Given the description of an element on the screen output the (x, y) to click on. 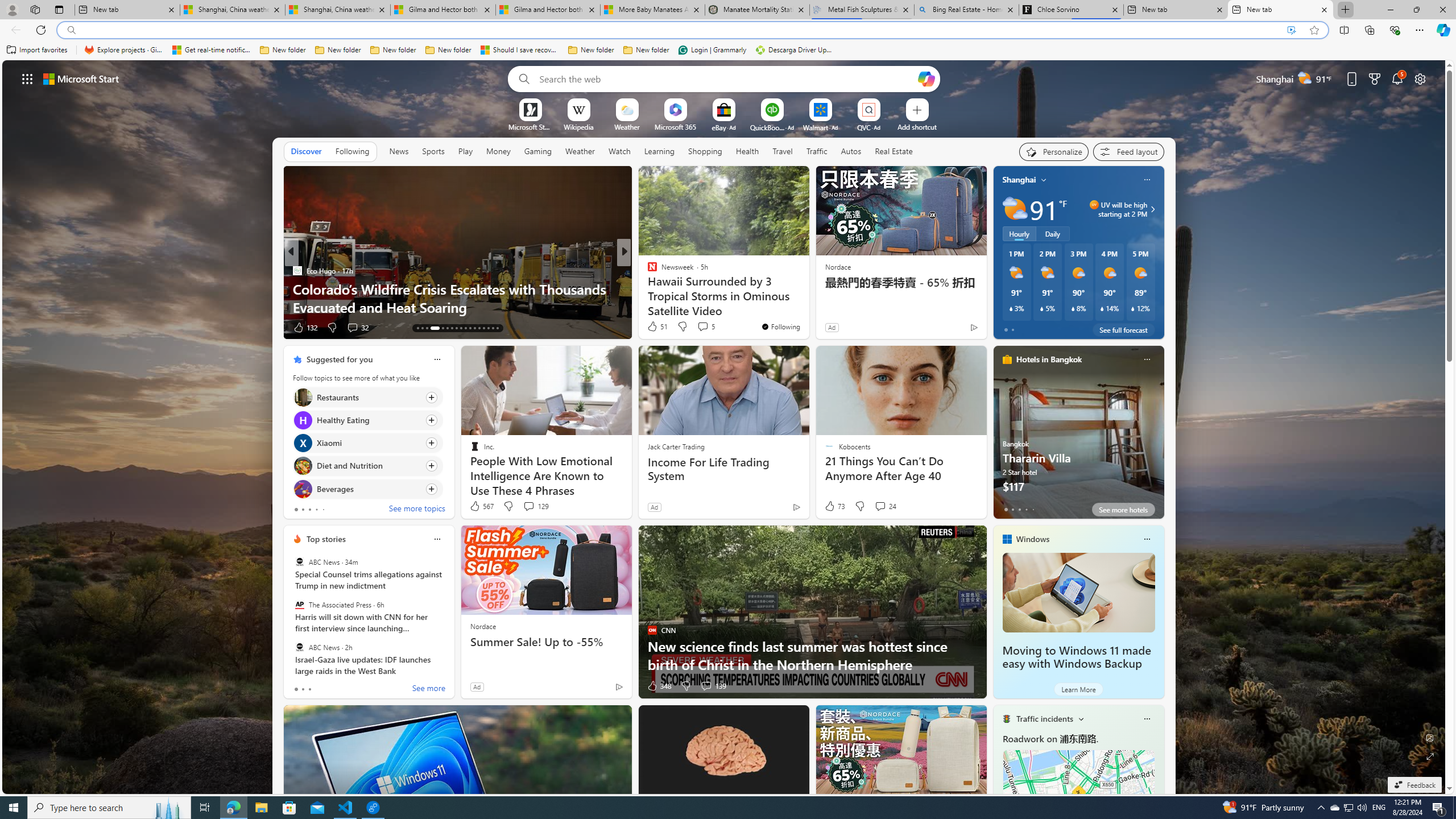
The Associated Press (299, 604)
AutomationID: tab-25 (460, 328)
AutomationID: tab-28 (474, 328)
Summer Sale! Up to -55% (546, 641)
View comments 1k Comment (353, 327)
Real Estate (893, 151)
Planning to Organize (647, 270)
tab-3 (1025, 509)
